Given the description of an element on the screen output the (x, y) to click on. 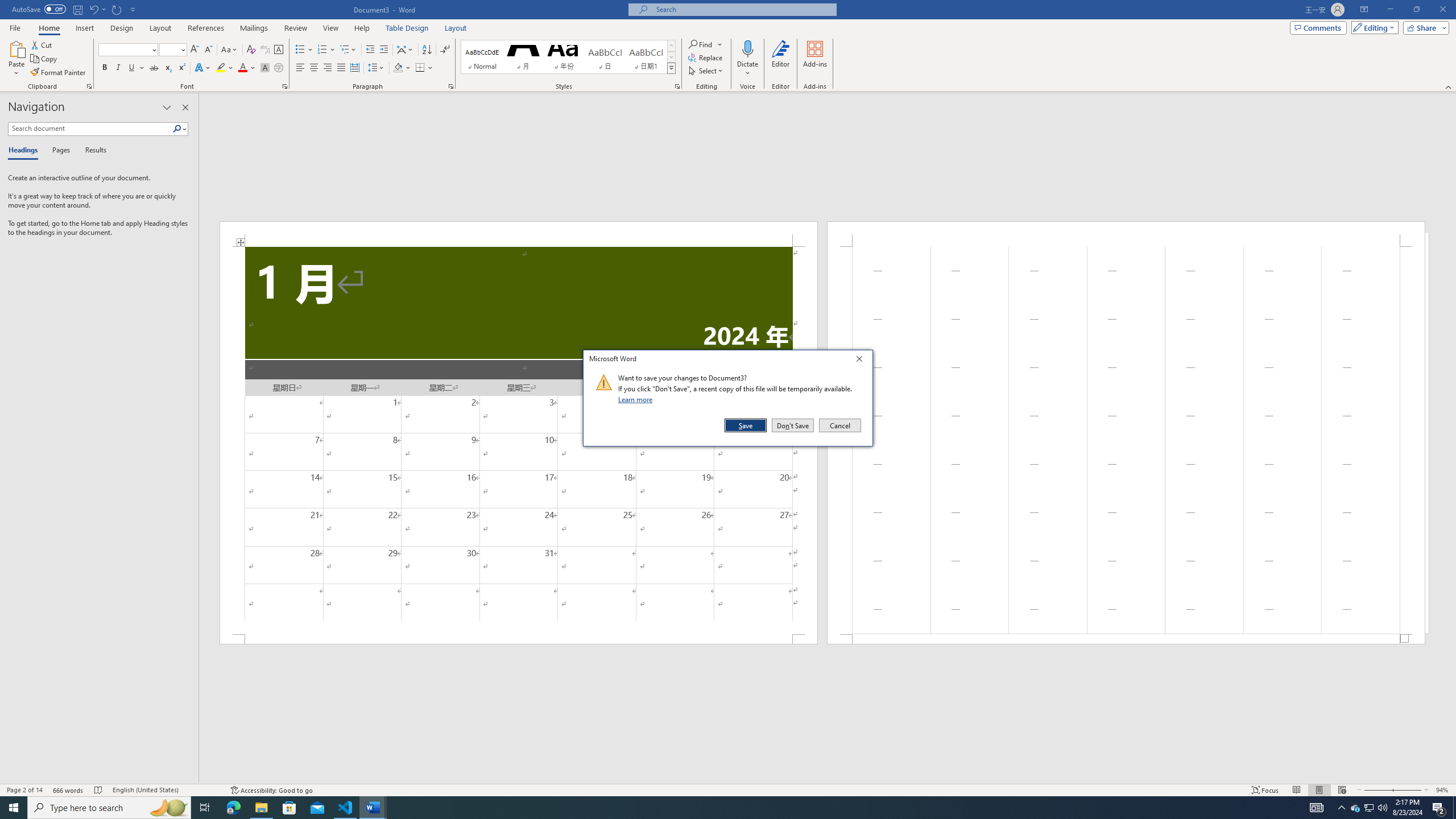
Don't Save (792, 425)
Word - 2 running windows (373, 807)
Spelling and Grammar Check No Errors (98, 790)
